Given the description of an element on the screen output the (x, y) to click on. 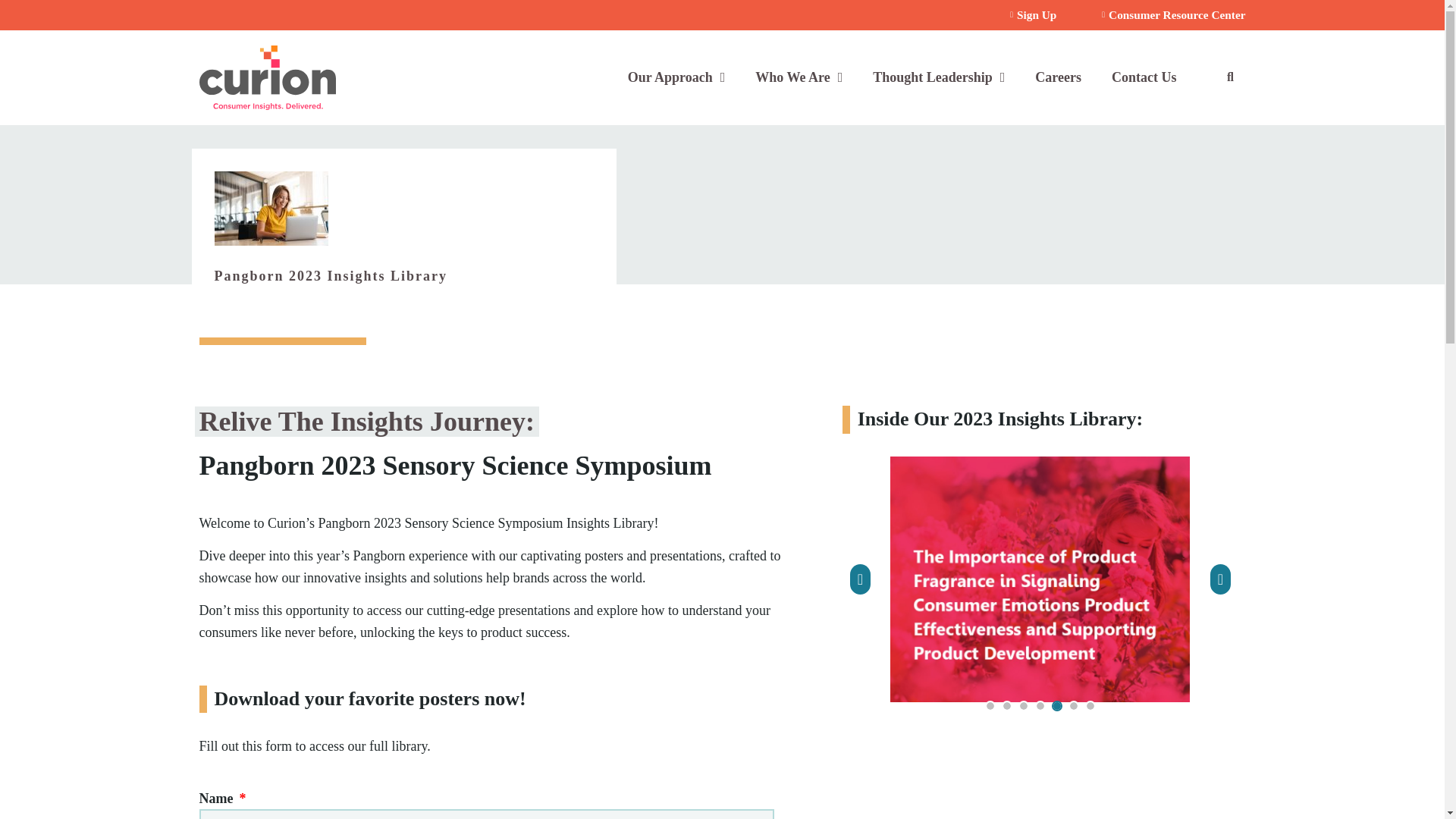
Careers (1058, 77)
Annotation 2023-08-03 150633 (270, 208)
Who We Are (798, 77)
Contact Us (1144, 77)
Thought Leadership (938, 77)
Our Approach (675, 77)
Consumer Resource Center (1169, 14)
Sign Up (1030, 14)
